Given the description of an element on the screen output the (x, y) to click on. 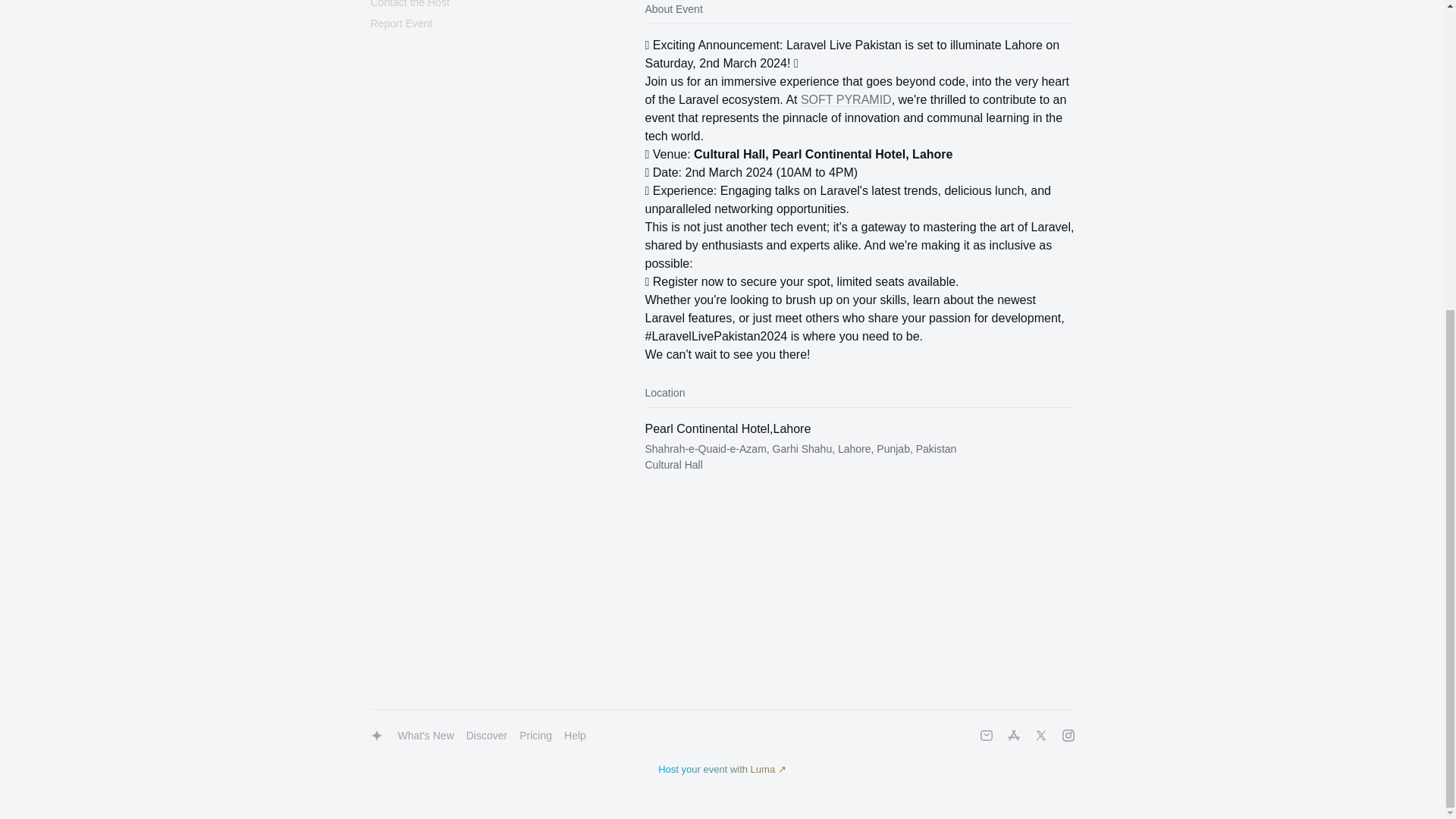
Pricing (535, 735)
Report Event (400, 23)
SOFT PYRAMID (845, 100)
Discover (486, 735)
Help (574, 735)
What's New (425, 735)
Contact the Host (408, 3)
